Given the description of an element on the screen output the (x, y) to click on. 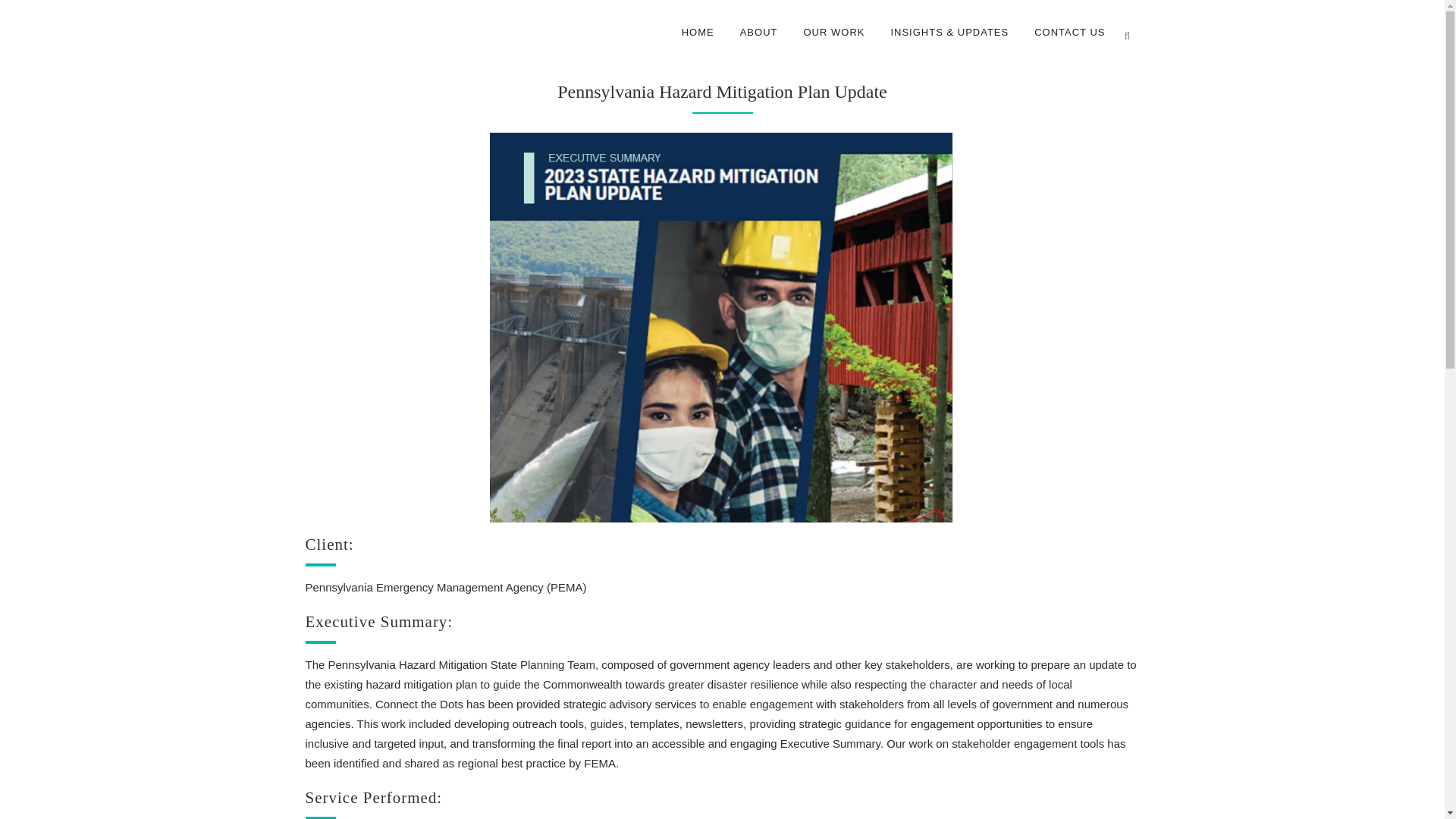
CONTACT US (1070, 32)
ABOUT (758, 32)
HOME (697, 32)
OUR WORK (833, 32)
